Given the description of an element on the screen output the (x, y) to click on. 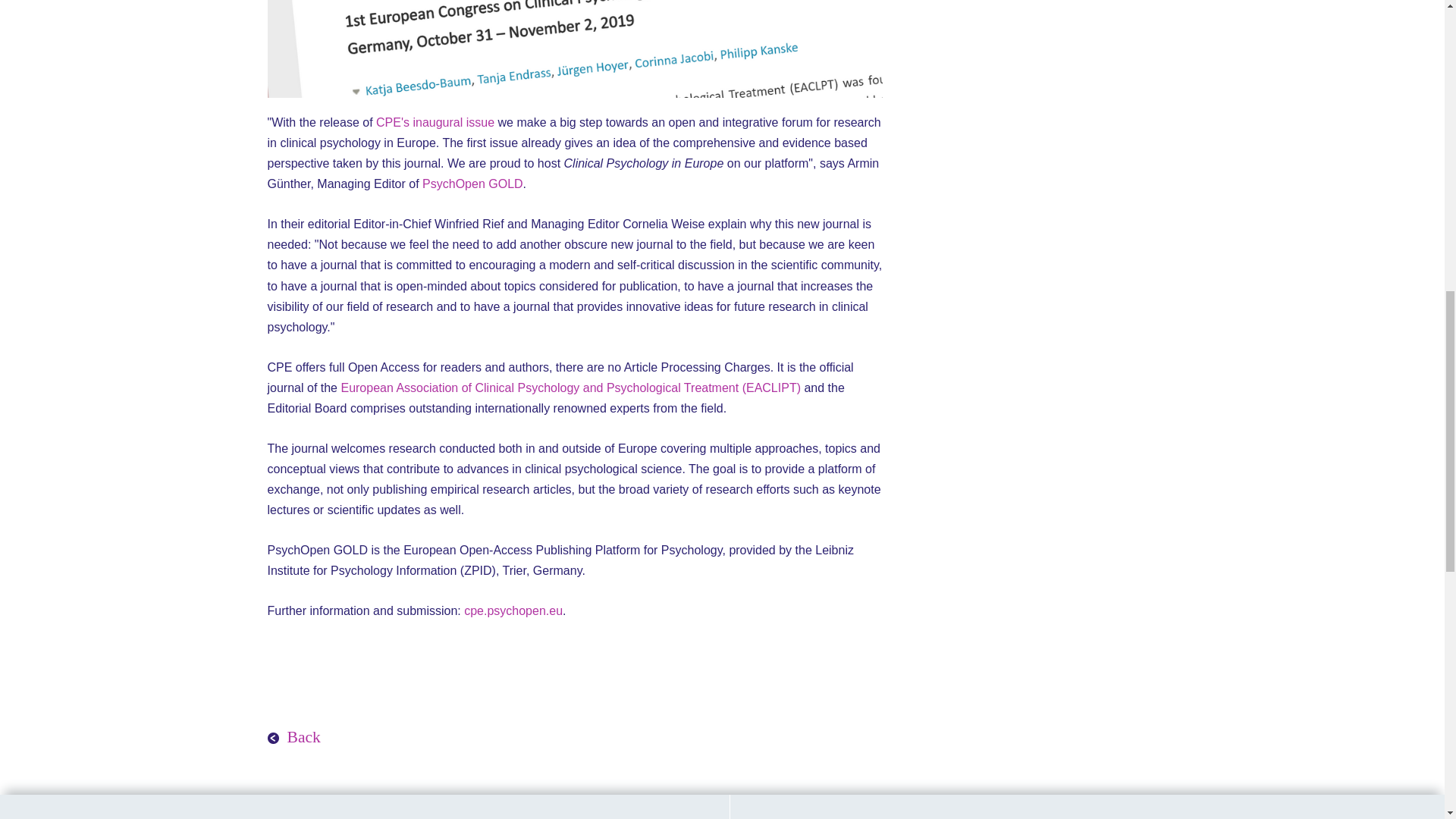
CPE's inaugural issue (435, 122)
PsychOpen GOLD (472, 183)
